Given the description of an element on the screen output the (x, y) to click on. 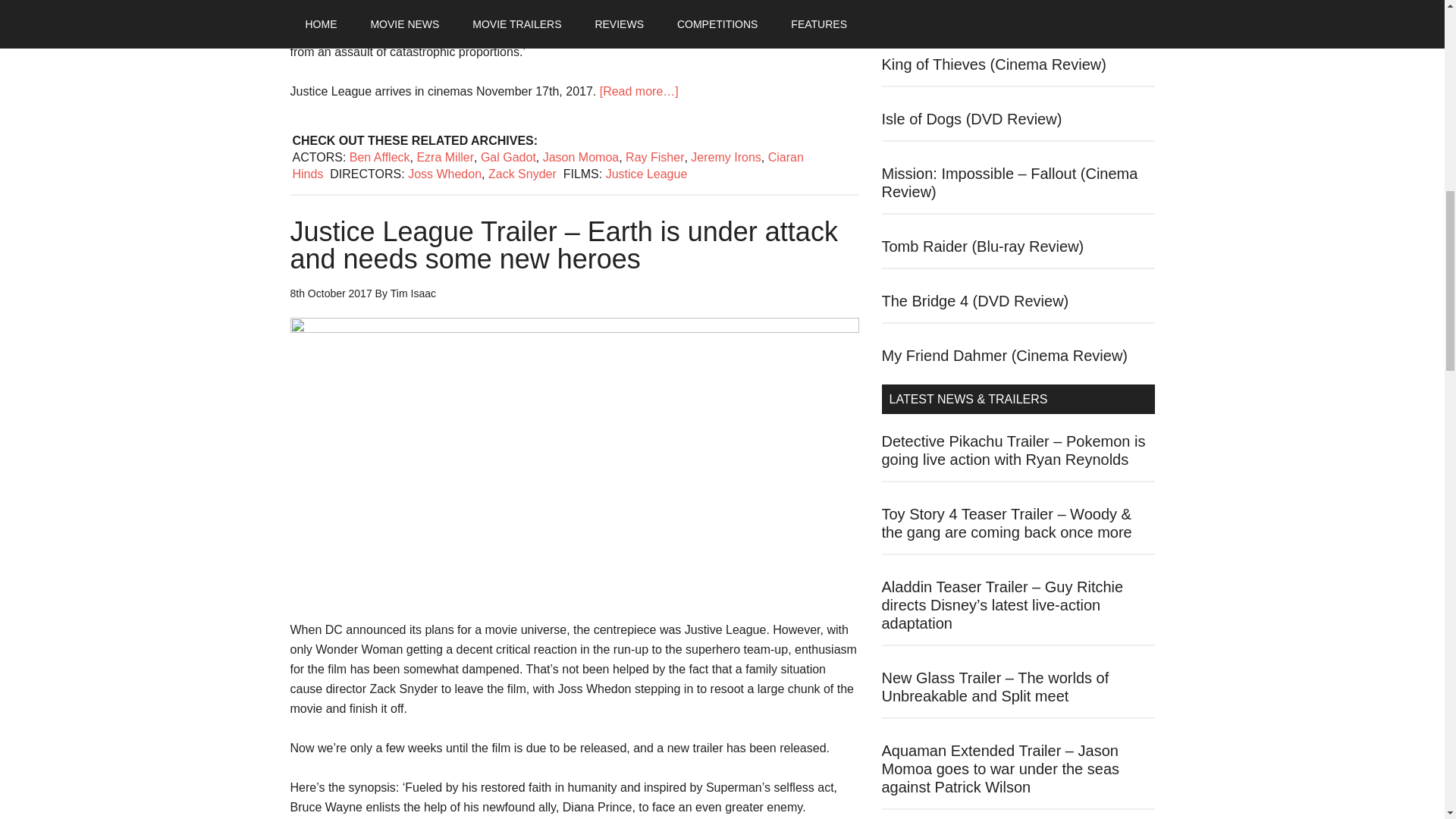
Joss Whedon (444, 173)
Zack Snyder (521, 173)
Ezra Miller (445, 156)
Ray Fisher (655, 156)
Gal Gadot (507, 156)
Jeremy Irons (725, 156)
Ciaran Hinds (547, 165)
Ben Affleck (379, 156)
Justice League (646, 173)
Tim Isaac (412, 293)
